Given the description of an element on the screen output the (x, y) to click on. 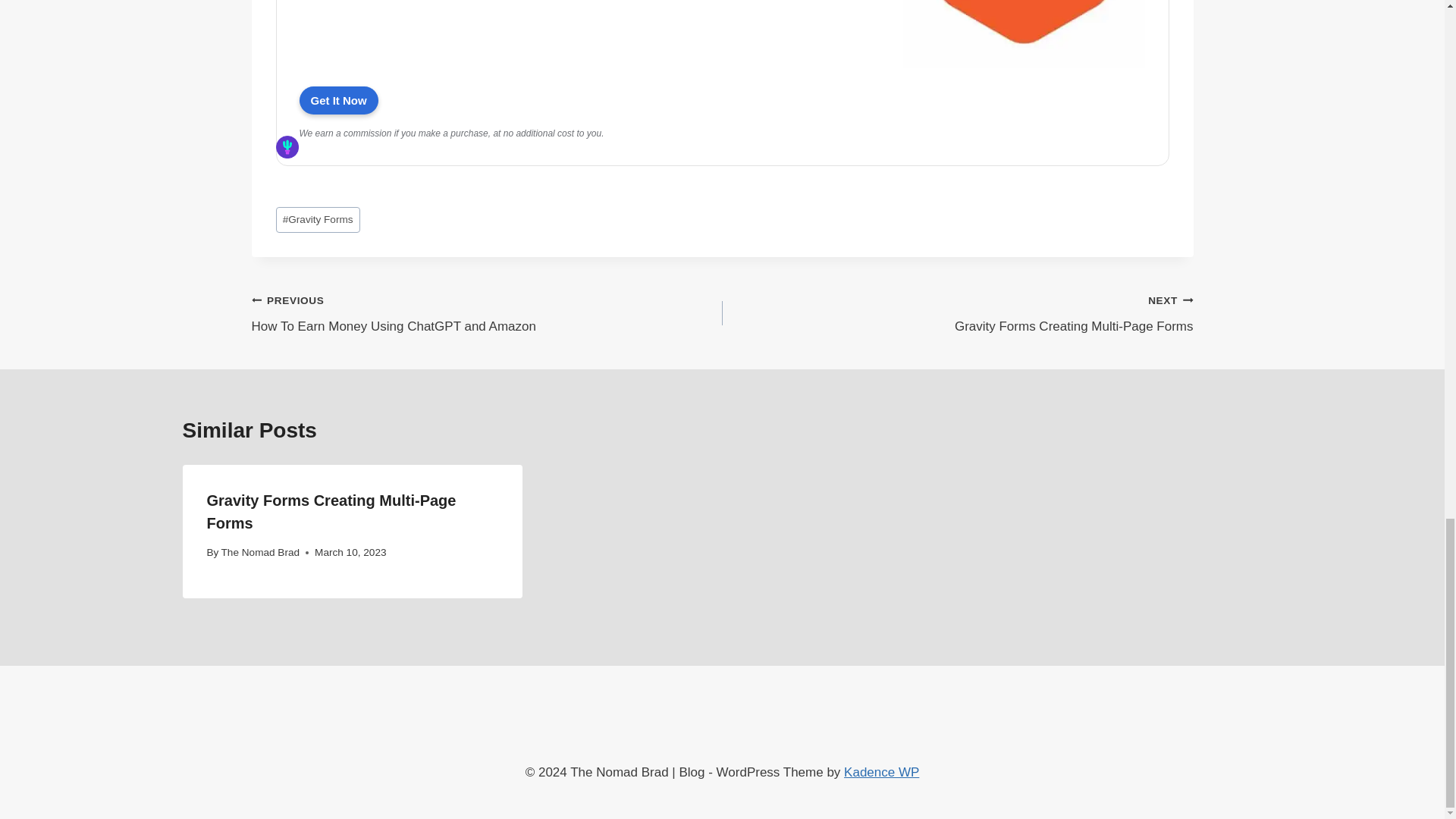
Gravity Forms Creating Multi-Page Forms (330, 511)
The Nomad Brad (260, 552)
Gravity Forms (337, 100)
Get It Now (337, 100)
Gravity Forms Build A Paypal Payment Form In Two Minutes 2 (957, 313)
Gravity Forms (287, 146)
Kadence WP (486, 313)
Gravity Forms (1023, 67)
Gravity Forms Build A Paypal Payment Form In Two Minutes 1 (881, 771)
